Given the description of an element on the screen output the (x, y) to click on. 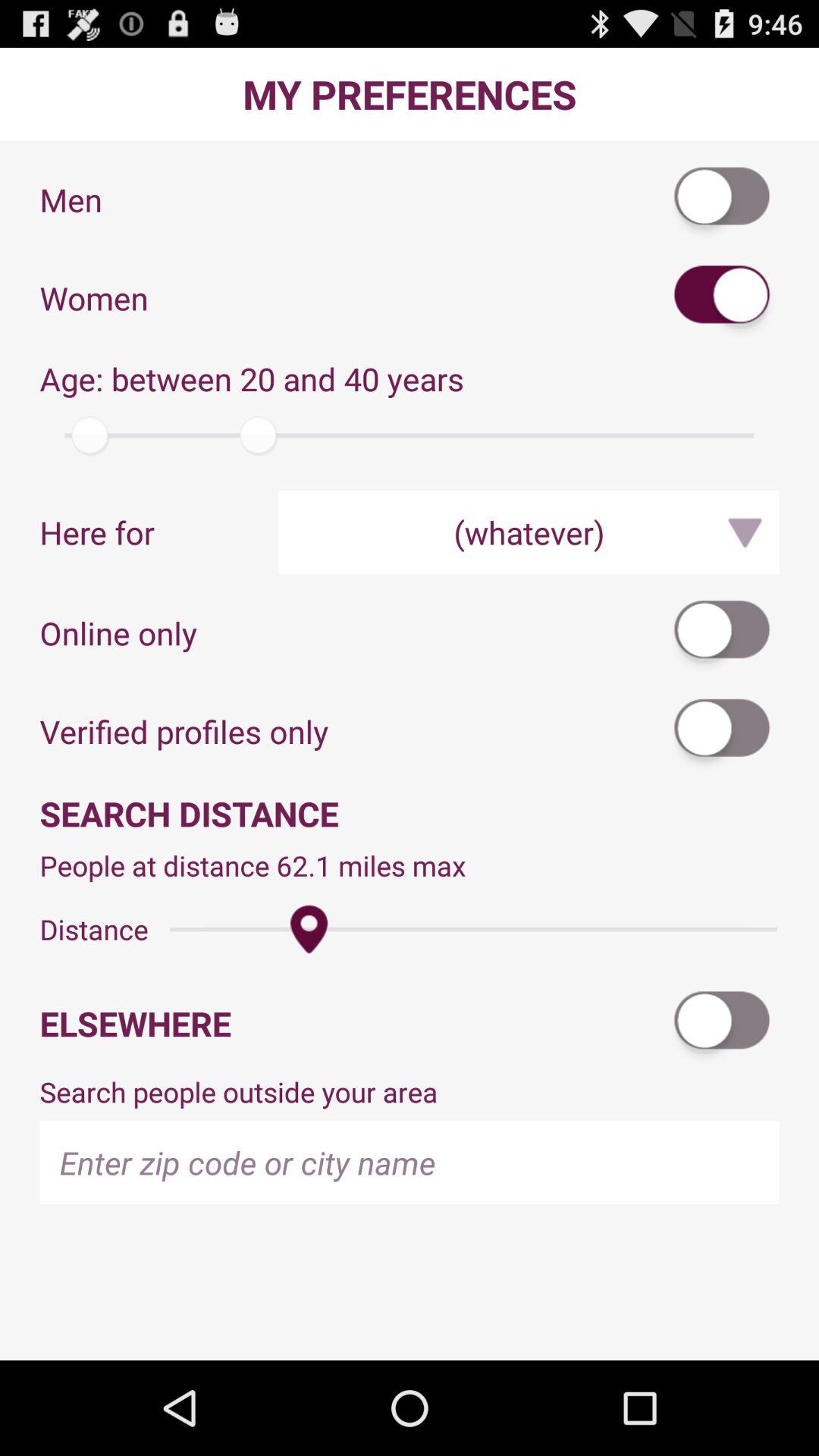
choose the icon at the bottom right corner (722, 1023)
